Given the description of an element on the screen output the (x, y) to click on. 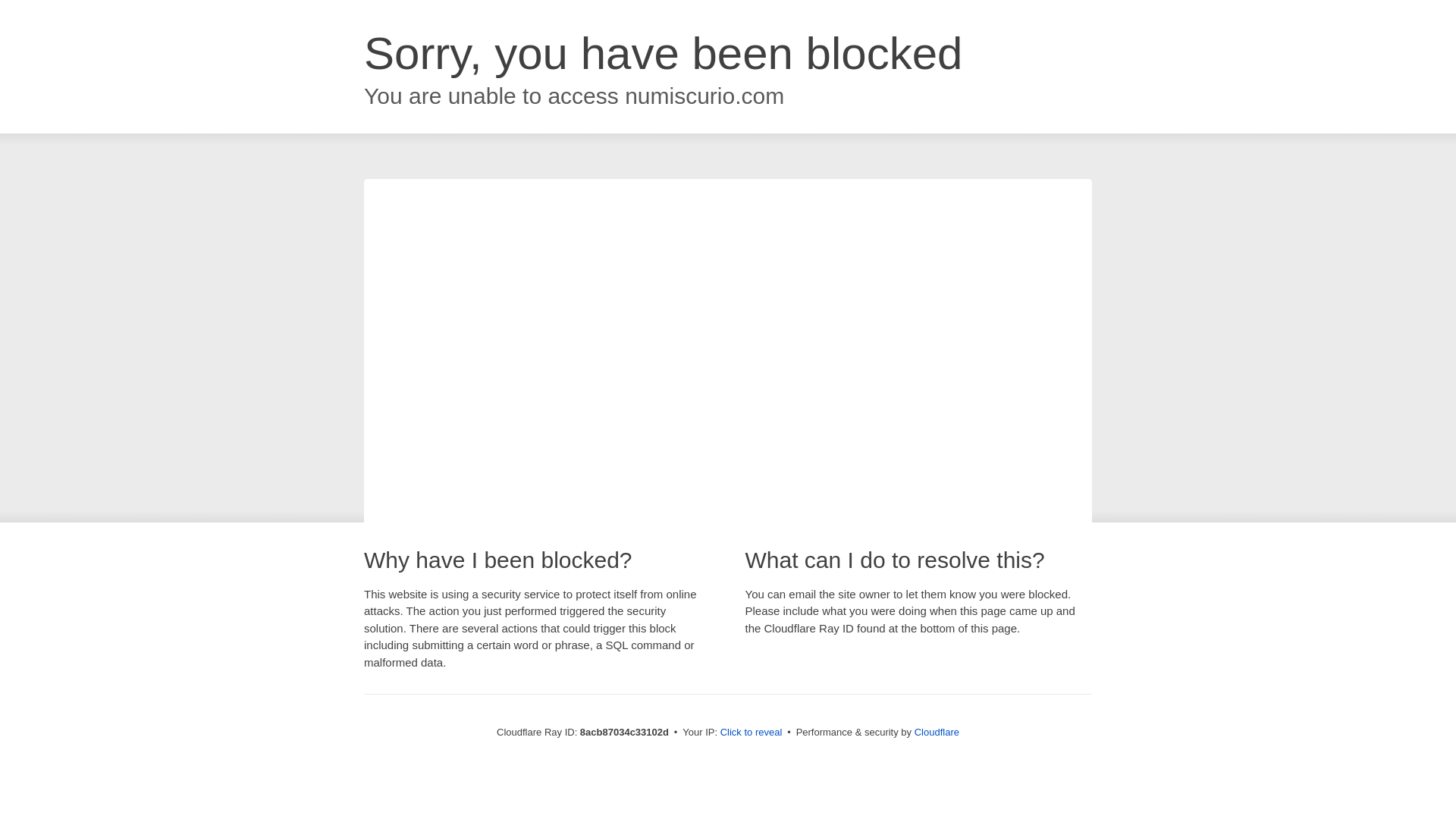
Click to reveal (751, 732)
Cloudflare (936, 731)
